Given the description of an element on the screen output the (x, y) to click on. 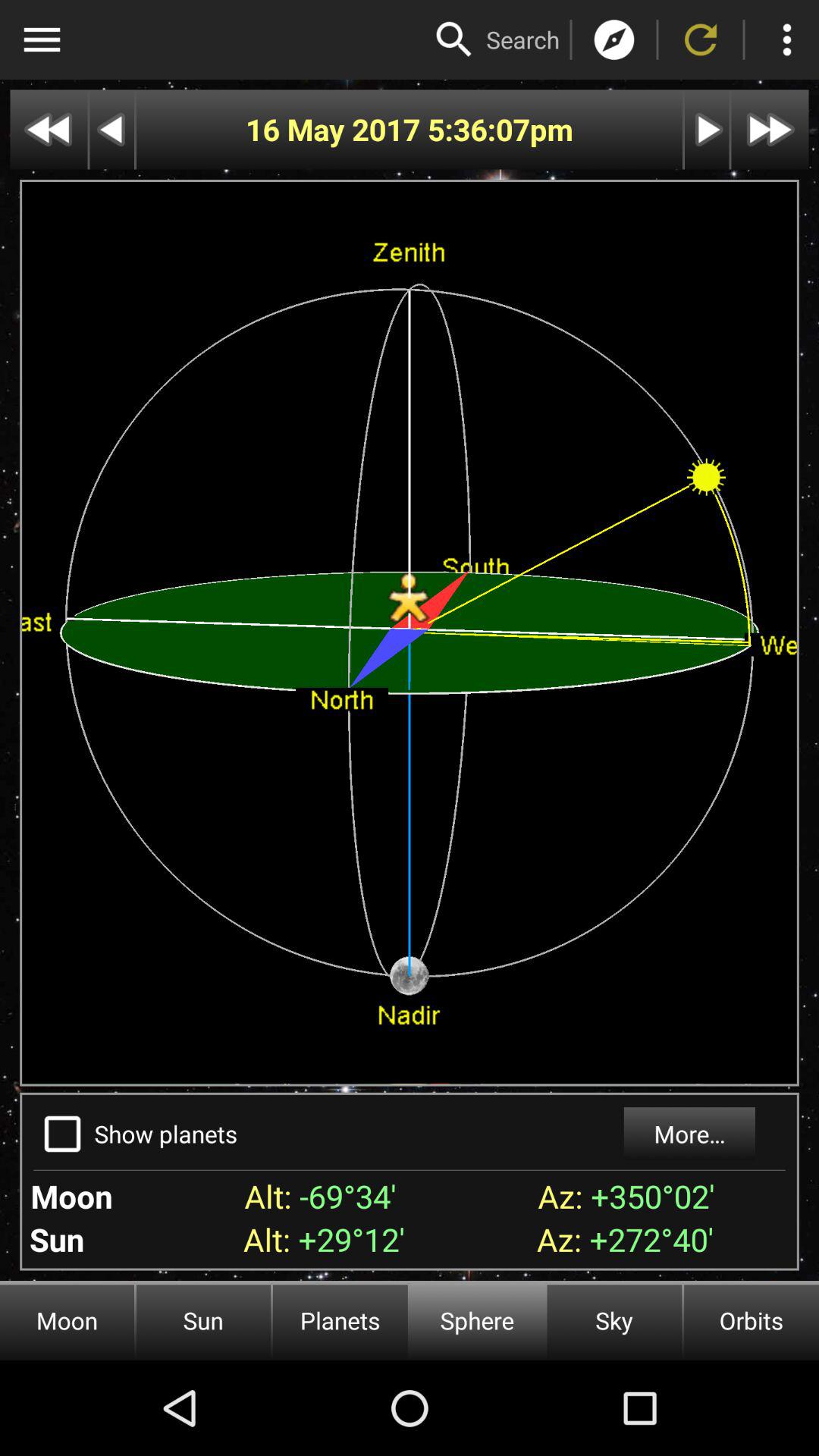
refresh (700, 39)
